Given the description of an element on the screen output the (x, y) to click on. 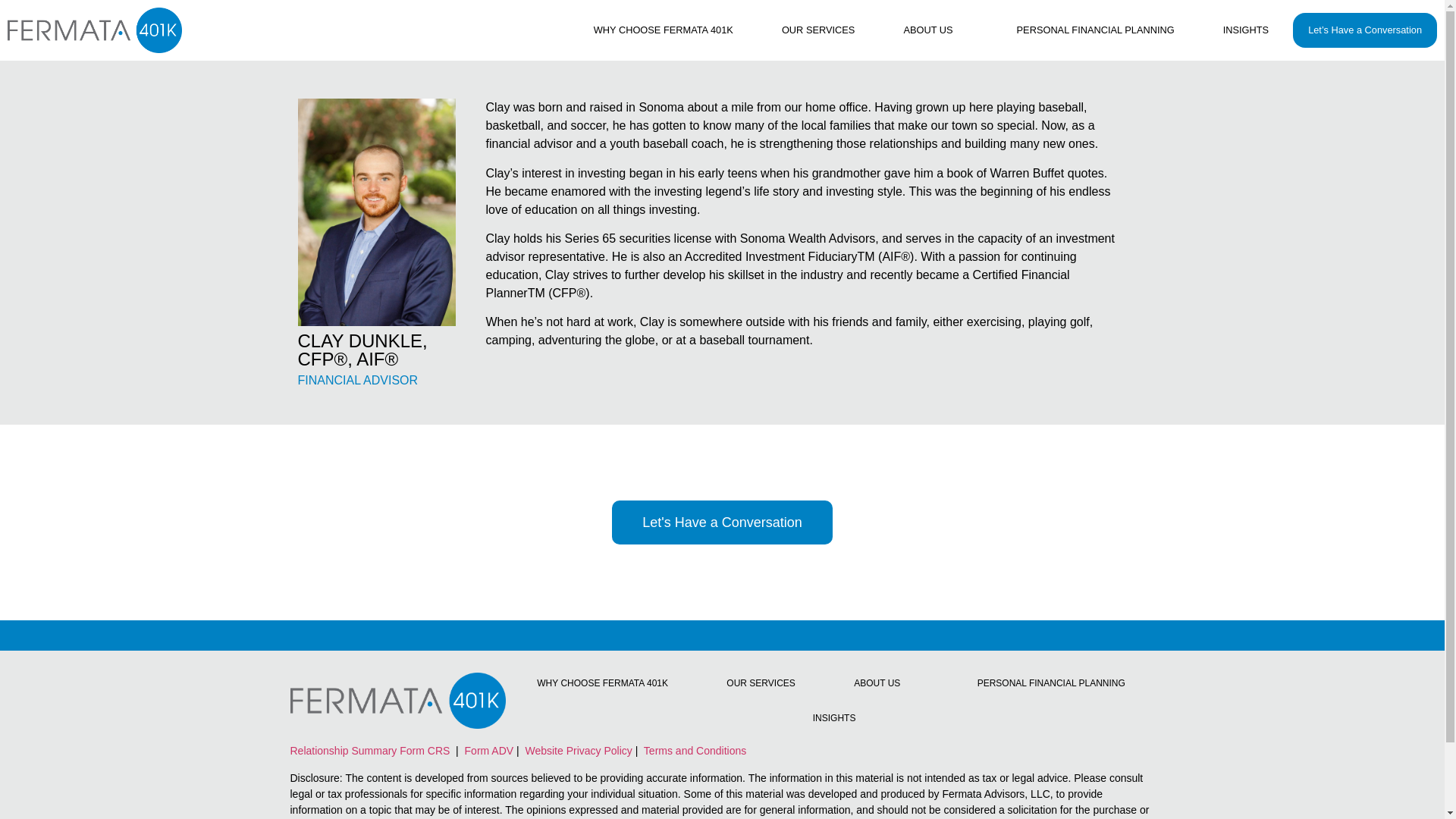
OUR SERVICES (760, 683)
INSIGHTS (833, 718)
Let's Have a Conversation (721, 522)
ABOUT US (928, 30)
OUR SERVICES (818, 30)
WHY CHOOSE FERMATA 401K (663, 30)
 Form ADV (487, 750)
PERSONAL FINANCIAL PLANNING (1050, 683)
 Terms and Conditions (692, 750)
WHY CHOOSE FERMATA 401K (602, 683)
